Given the description of an element on the screen output the (x, y) to click on. 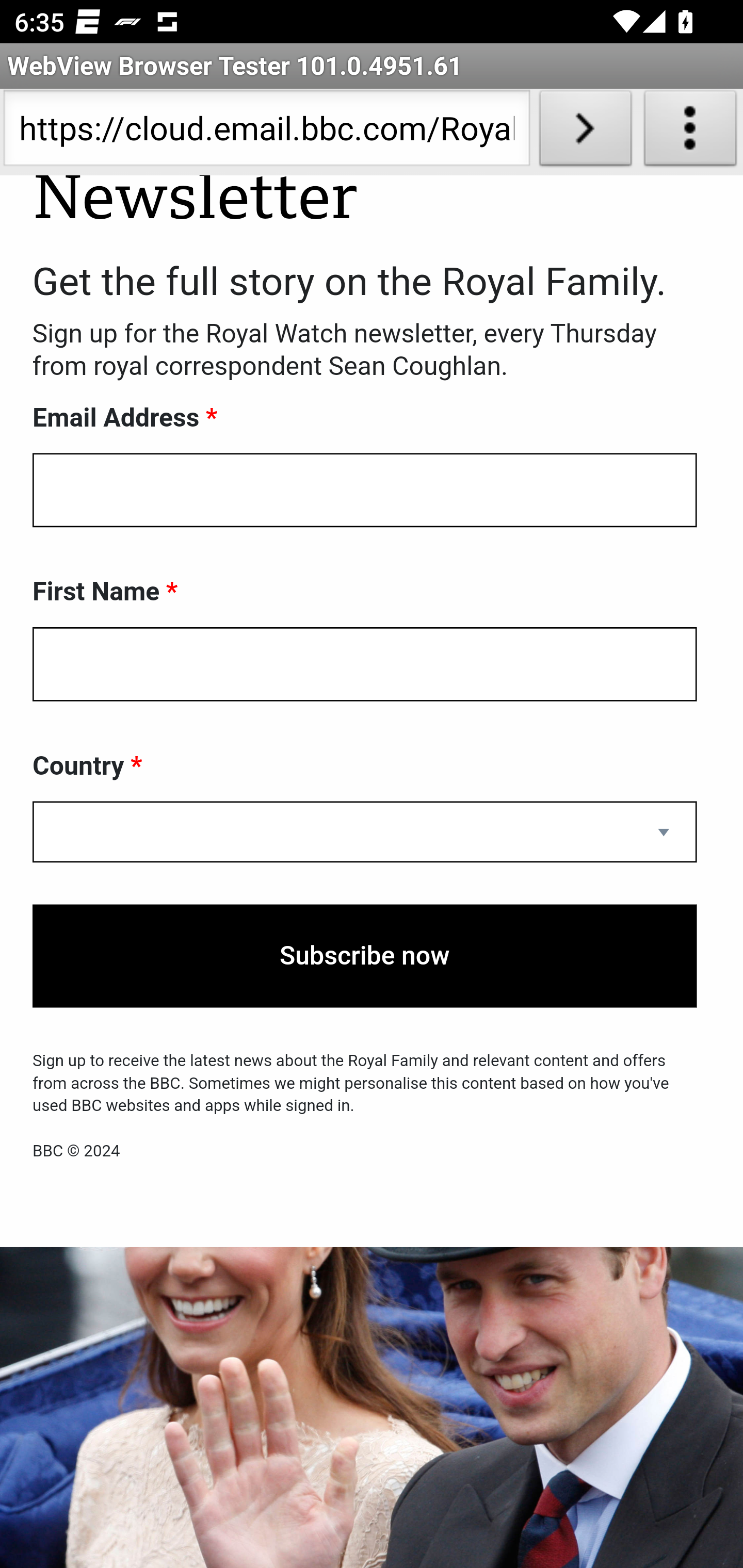
Load URL (585, 132)
About WebView (690, 132)
Subscribe now (364, 956)
